Given the description of an element on the screen output the (x, y) to click on. 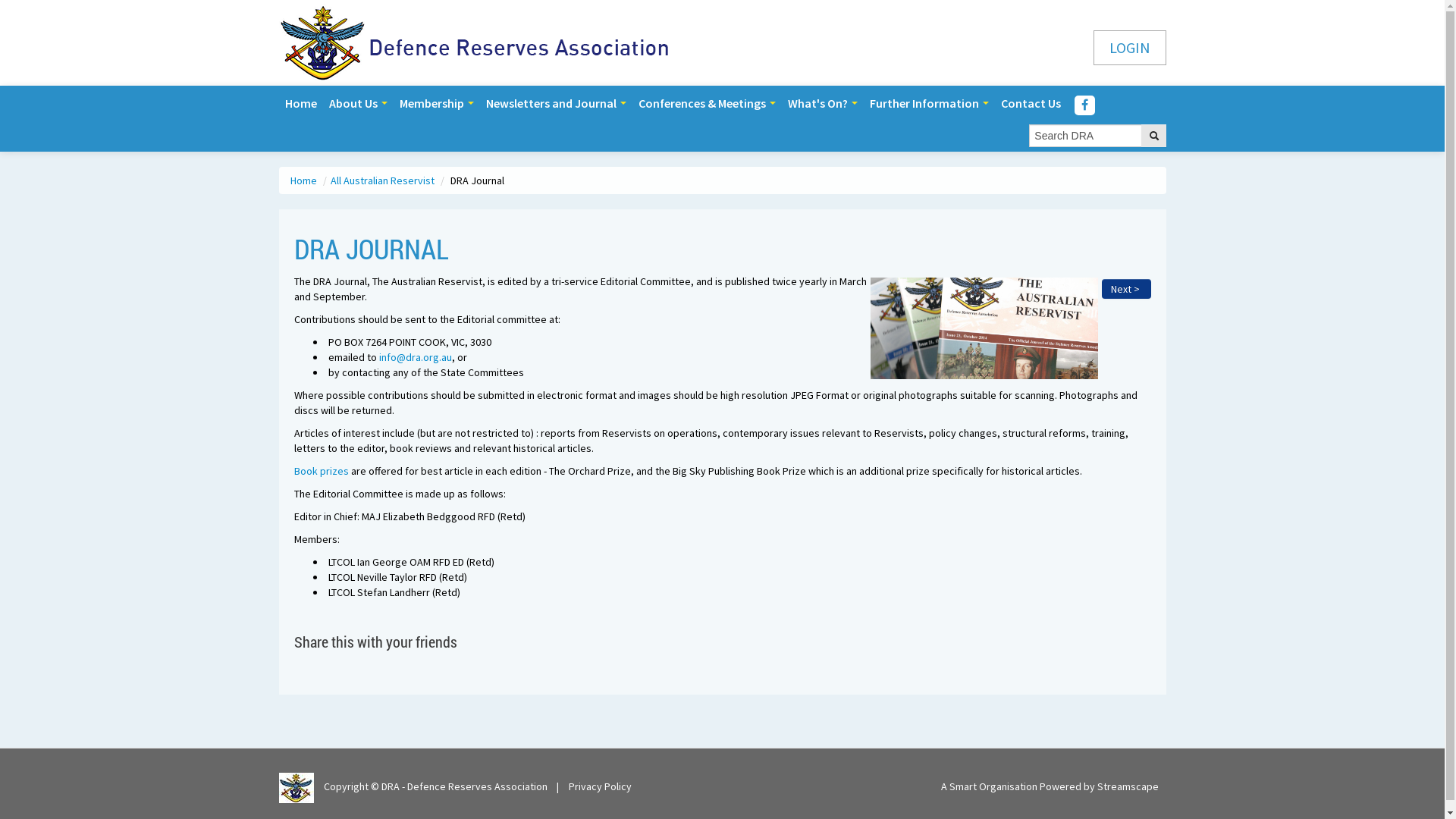
Book prizes Element type: text (322, 470)
The Australian Reservist Element type: hover (984, 328)
Home Element type: text (301, 102)
Home Element type: text (303, 180)
Membership Element type: text (435, 102)
What's On? Element type: text (821, 102)
Further Information Element type: text (928, 102)
A Smart Organisation Powered by Streamscape Element type: text (1048, 785)
Next > Element type: text (1125, 288)
Newsletters and Journal Element type: text (555, 102)
About Us Element type: text (358, 102)
info@dra.org.au Element type: text (415, 357)
All Australian Reservist Element type: text (383, 180)
LOGIN Element type: text (1129, 47)
Privacy Policy Element type: text (599, 785)
Conferences & Meetings Element type: text (706, 102)
Contact Us Element type: text (1030, 102)
